Given the description of an element on the screen output the (x, y) to click on. 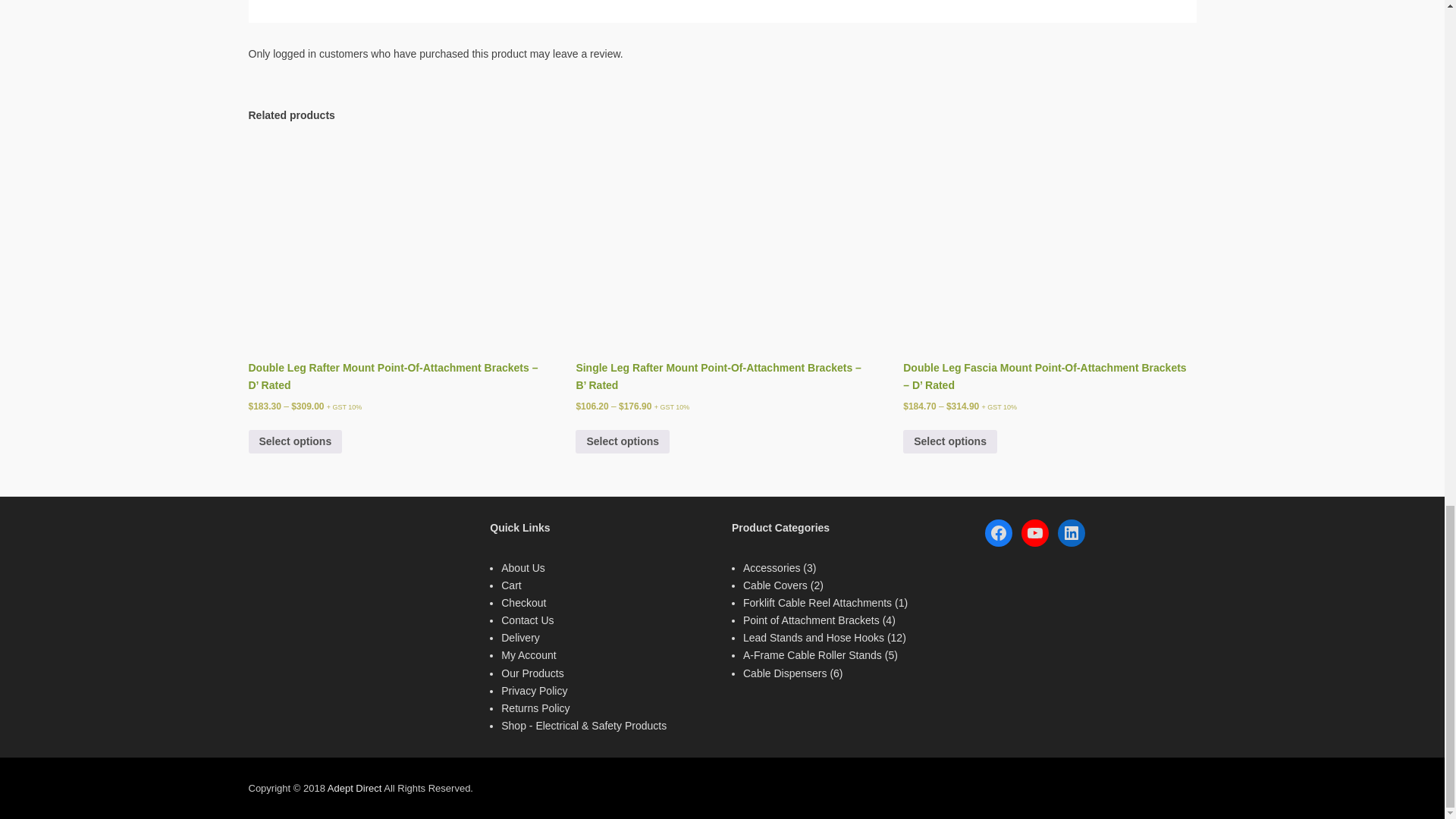
Select options (622, 441)
Select options (295, 441)
Adept Direct (354, 787)
